Given the description of an element on the screen output the (x, y) to click on. 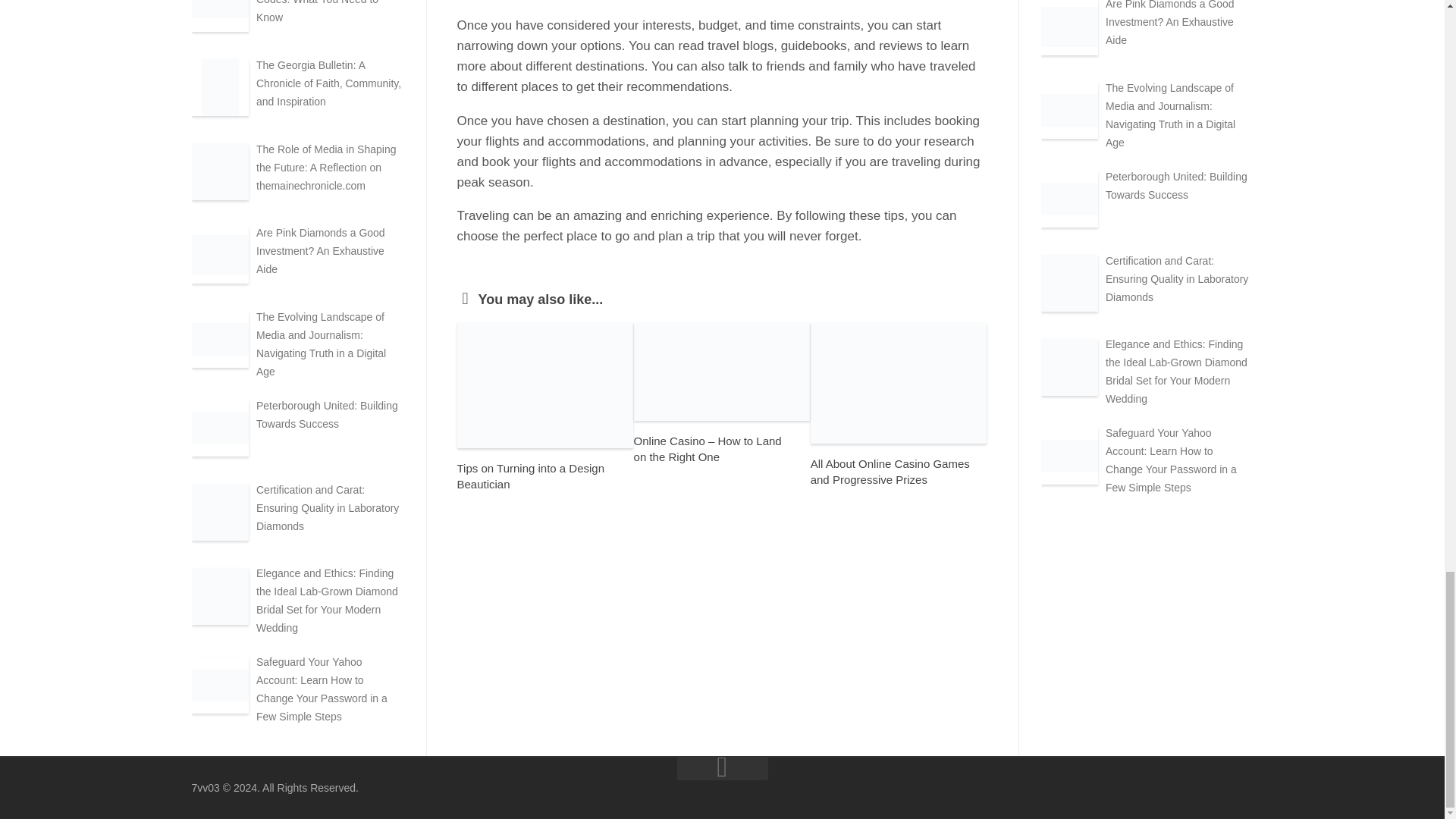
Latest Updates on HMRC Tax Codes: What You Need to Know (326, 11)
are pink diamonds a good investment (218, 254)
are pink diamonds a good investment (1069, 27)
Tips on Turning into a Design Beautician (530, 475)
Are Pink Diamonds a Good Investment? An Exhaustive Aide (320, 250)
All About Online Casino Games and Progressive Prizes (889, 471)
